Given the description of an element on the screen output the (x, y) to click on. 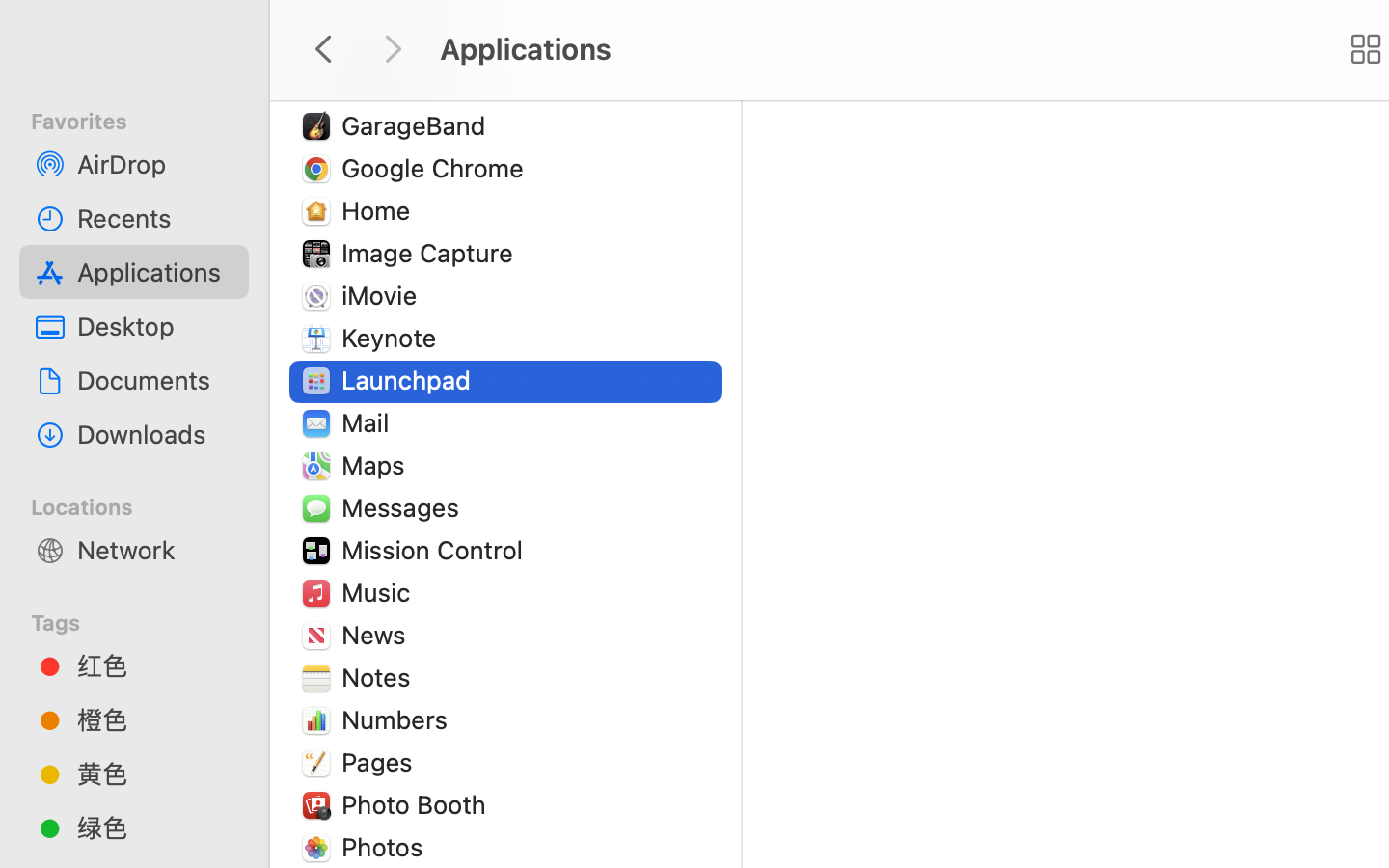
Freeform Element type: AXTextField (398, 82)
橙色 Element type: AXStaticText (155, 719)
红色 Element type: AXStaticText (155, 665)
Network Element type: AXStaticText (155, 549)
Mail Element type: AXTextField (369, 421)
